Given the description of an element on the screen output the (x, y) to click on. 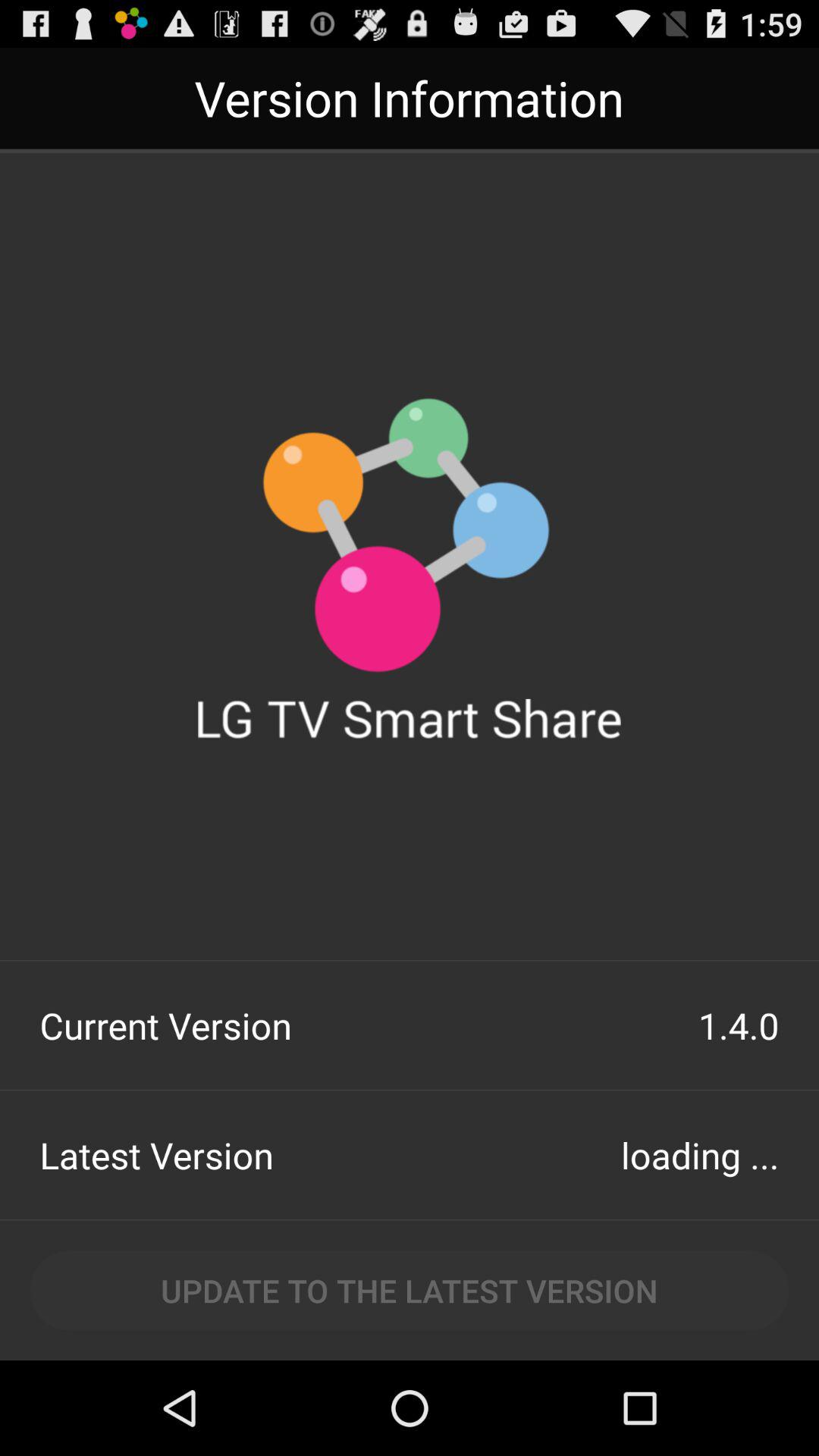
tap the update to the item (409, 1290)
